Given the description of an element on the screen output the (x, y) to click on. 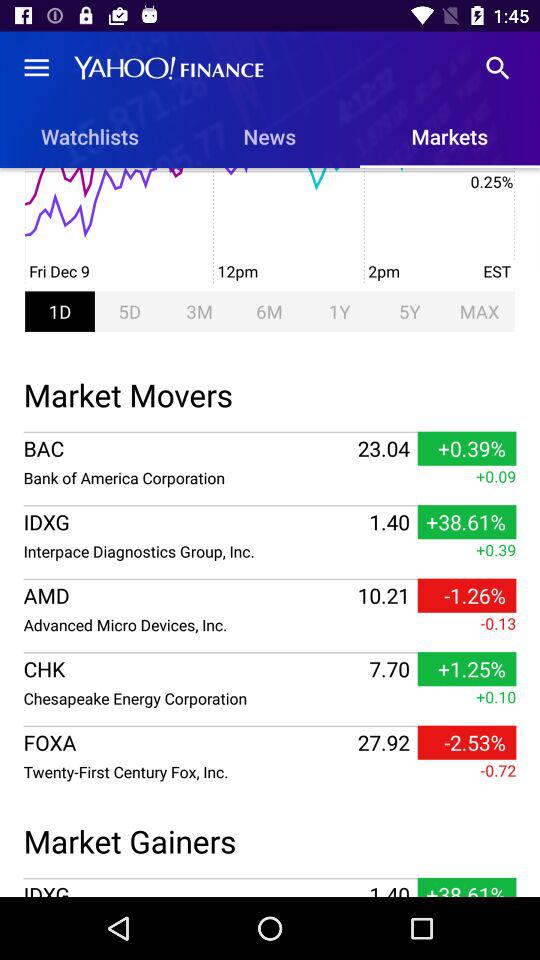
choose icon to the right of the chk icon (389, 669)
